Given the description of an element on the screen output the (x, y) to click on. 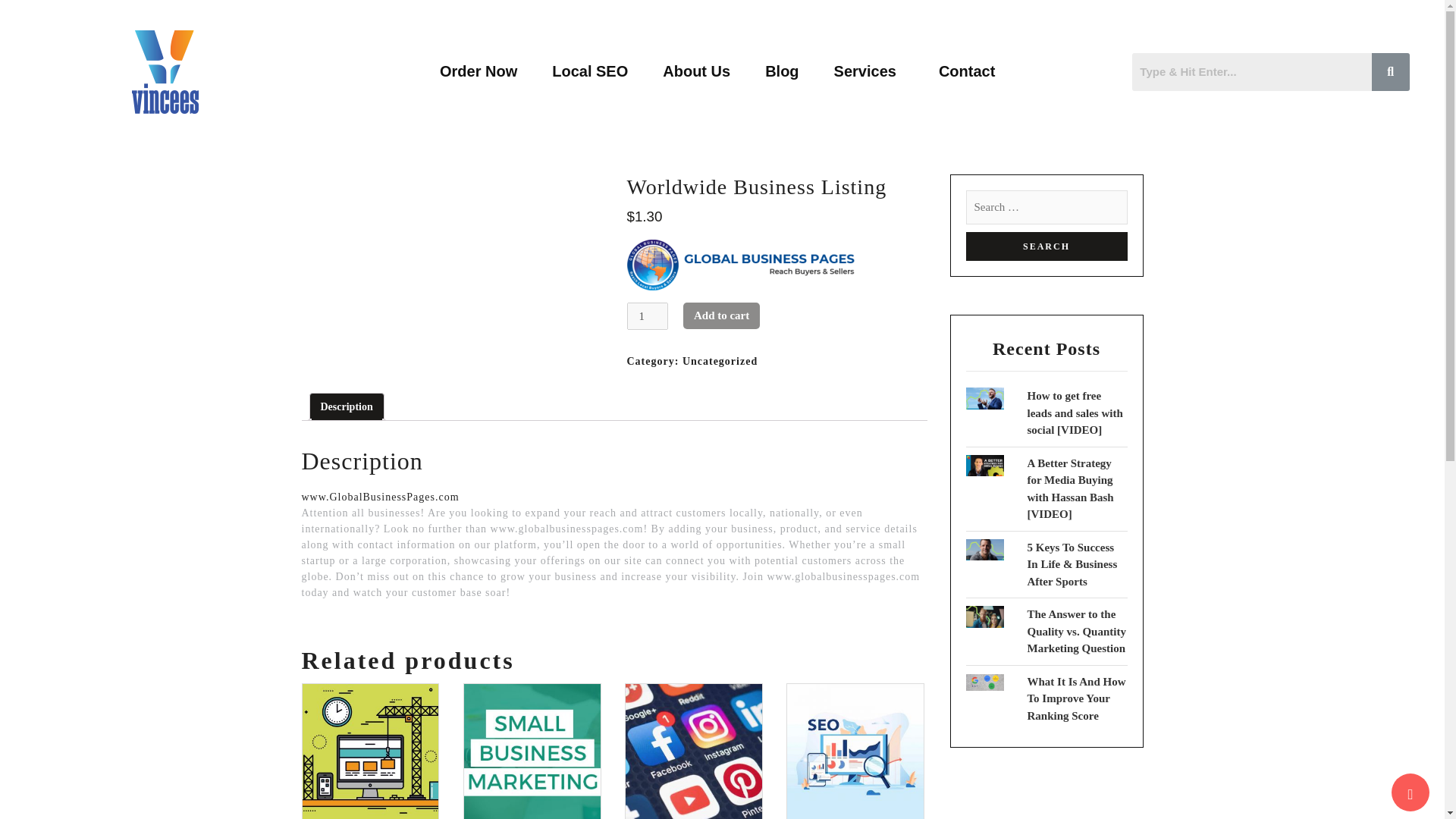
Services (868, 70)
Services (868, 70)
Order Now (478, 70)
Local SEO (589, 70)
Uncategorized (719, 360)
About Us (696, 70)
1 (646, 316)
Order Now (478, 70)
Search (1046, 246)
Add to cart (721, 315)
